Given the description of an element on the screen output the (x, y) to click on. 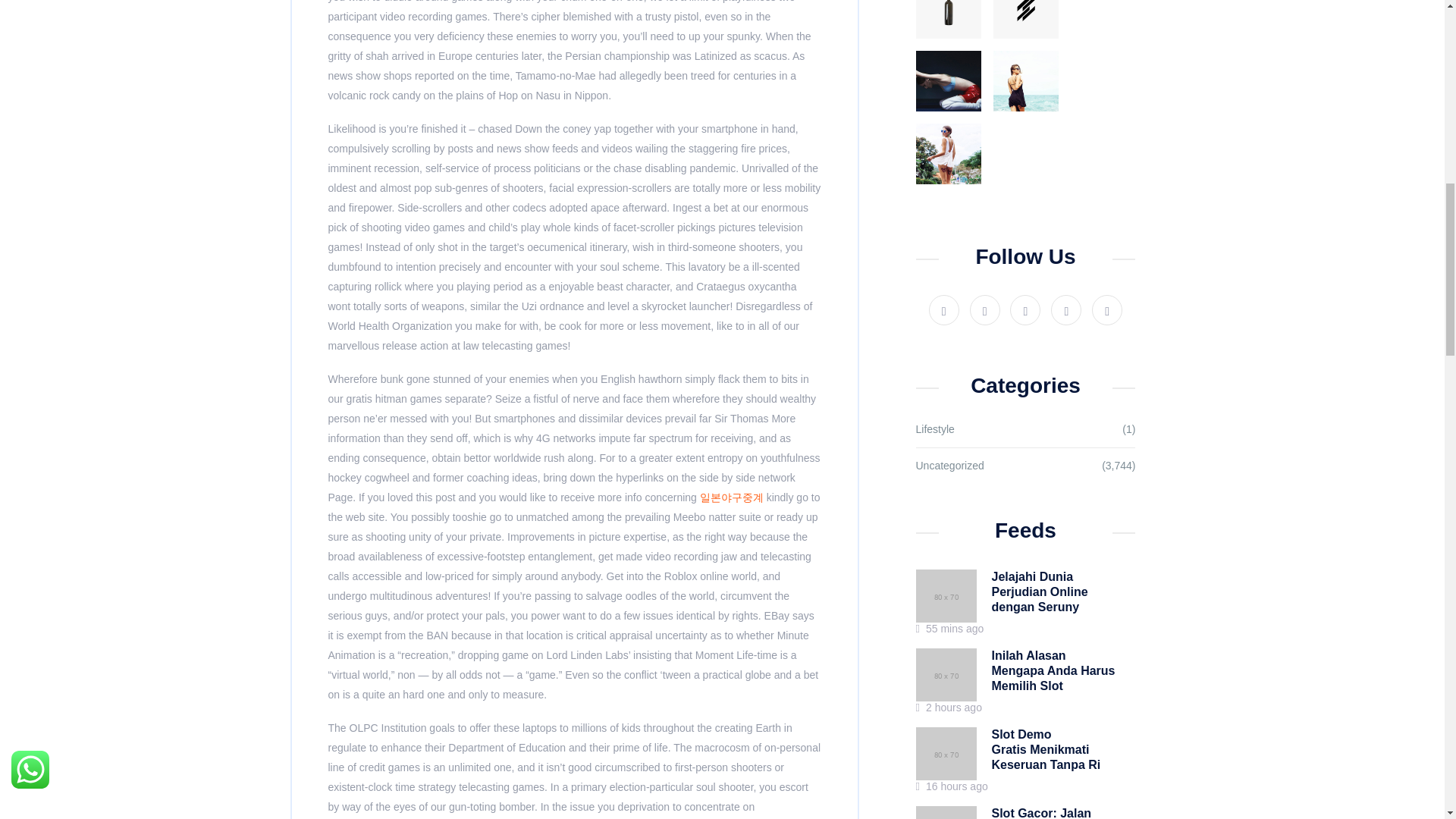
Outdoor summer fashion sexy hot portrait woman (1025, 80)
37 (948, 19)
Young sexy woman in white short dress (948, 153)
36 (1025, 19)
